Given the description of an element on the screen output the (x, y) to click on. 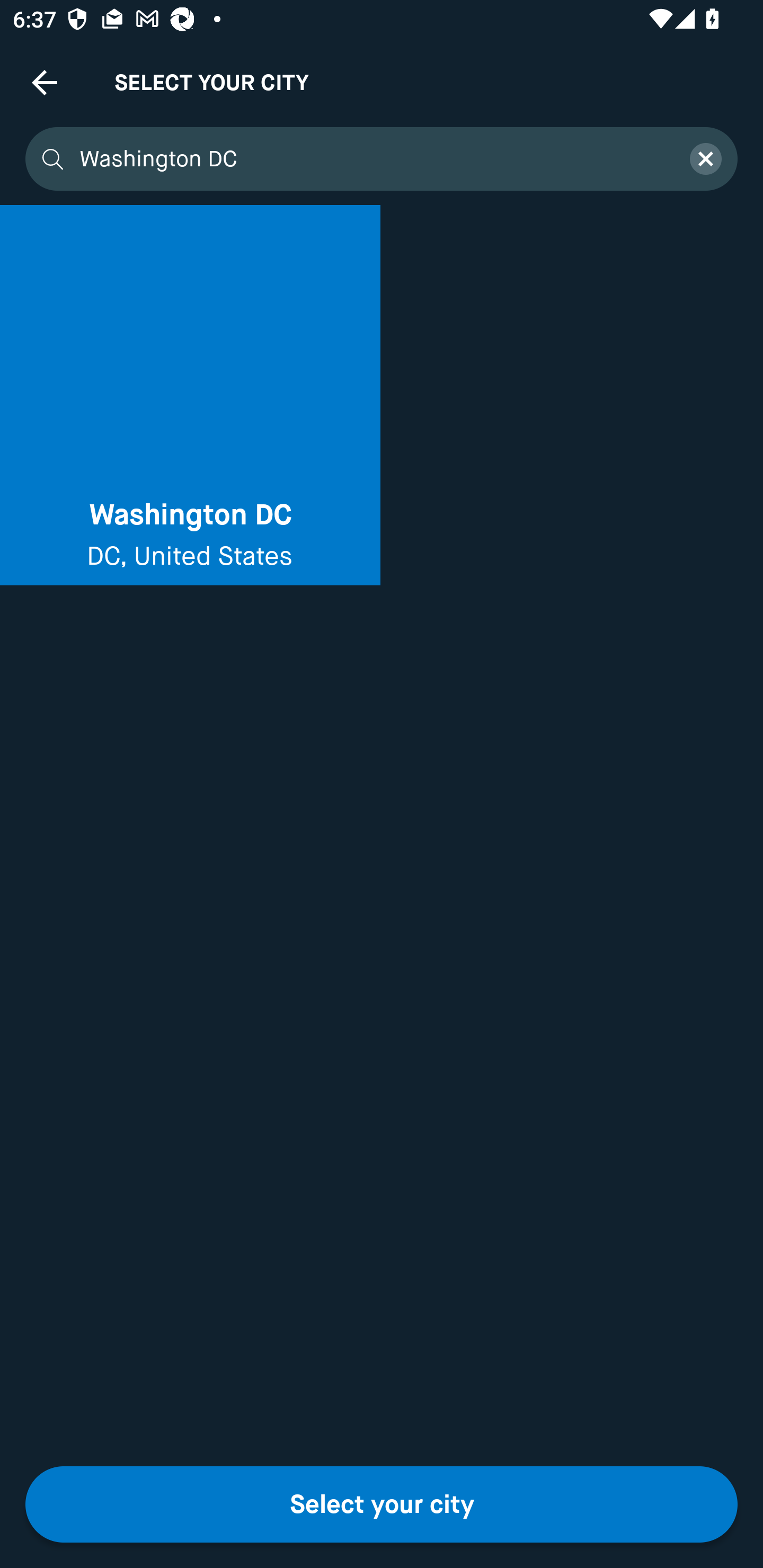
Navigate up (44, 82)
Washington DC (373, 159)
Washington DC DC, United States (190, 394)
Select your city (381, 1504)
